Given the description of an element on the screen output the (x, y) to click on. 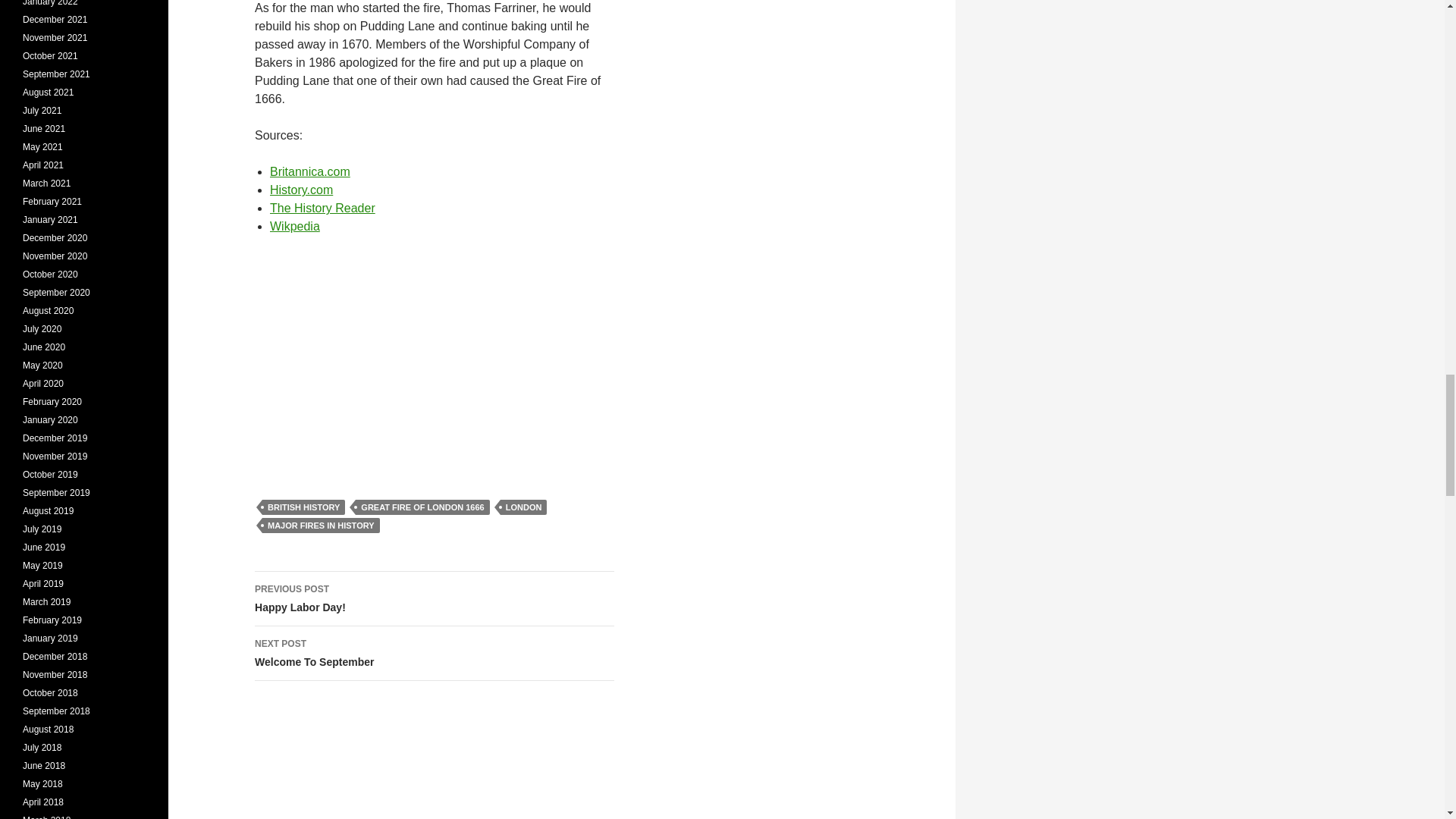
History.com (301, 189)
LONDON (523, 507)
Wikpedia (434, 653)
Britannica.com (294, 226)
National Geographic Great Fire of London The Untold Story (309, 171)
GREAT FIRE OF LONDON 1666 (434, 598)
The History Reader (434, 354)
BRITISH HISTORY (422, 507)
